Given the description of an element on the screen output the (x, y) to click on. 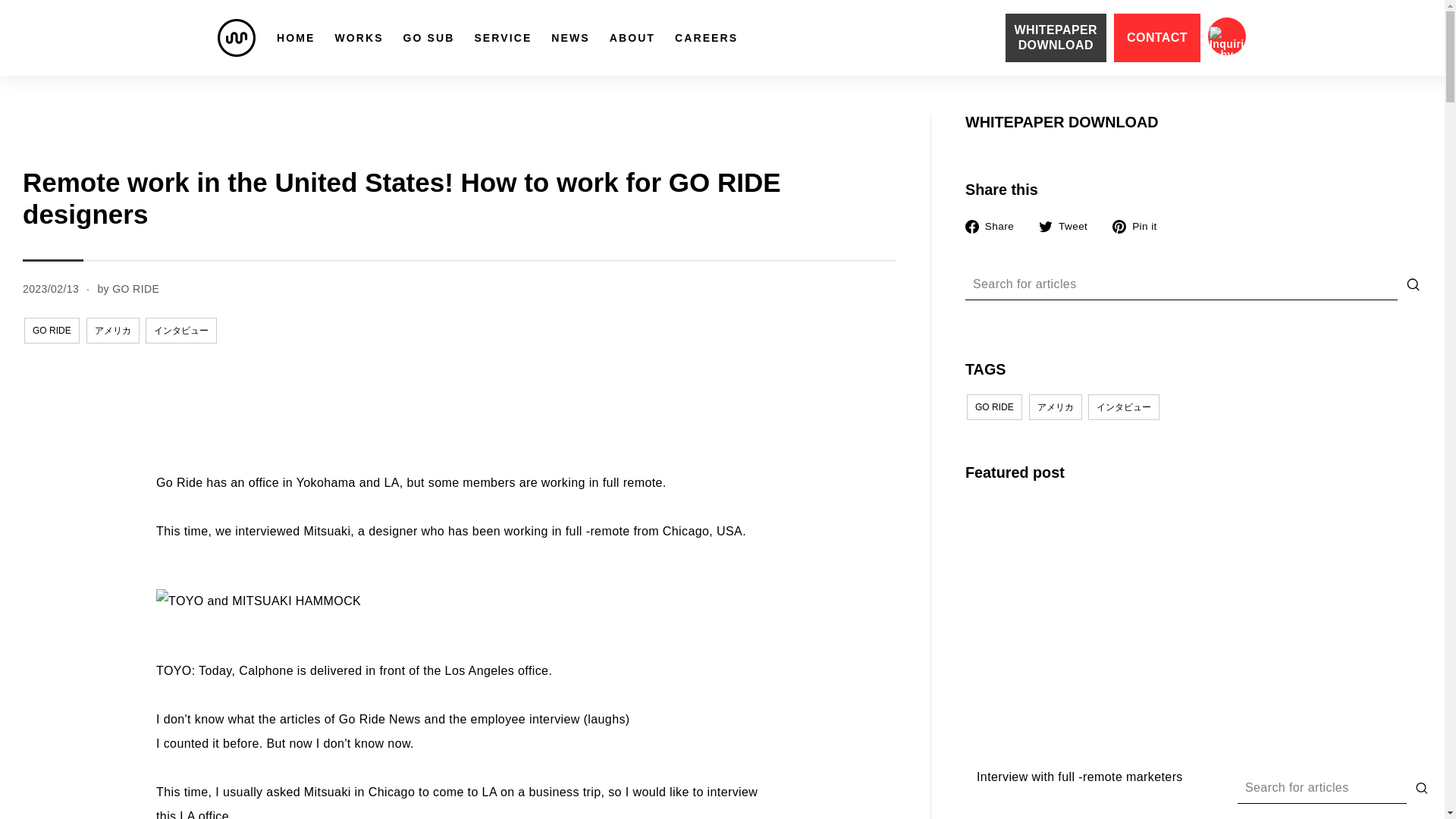
Pin on Pinterest (1139, 226)
GO SUB (428, 38)
Tweet on Twitter (1069, 226)
HOME (295, 38)
Share on Facebook (995, 226)
WORKS (358, 38)
NEWS (569, 38)
SERVICE (502, 38)
